Given the description of an element on the screen output the (x, y) to click on. 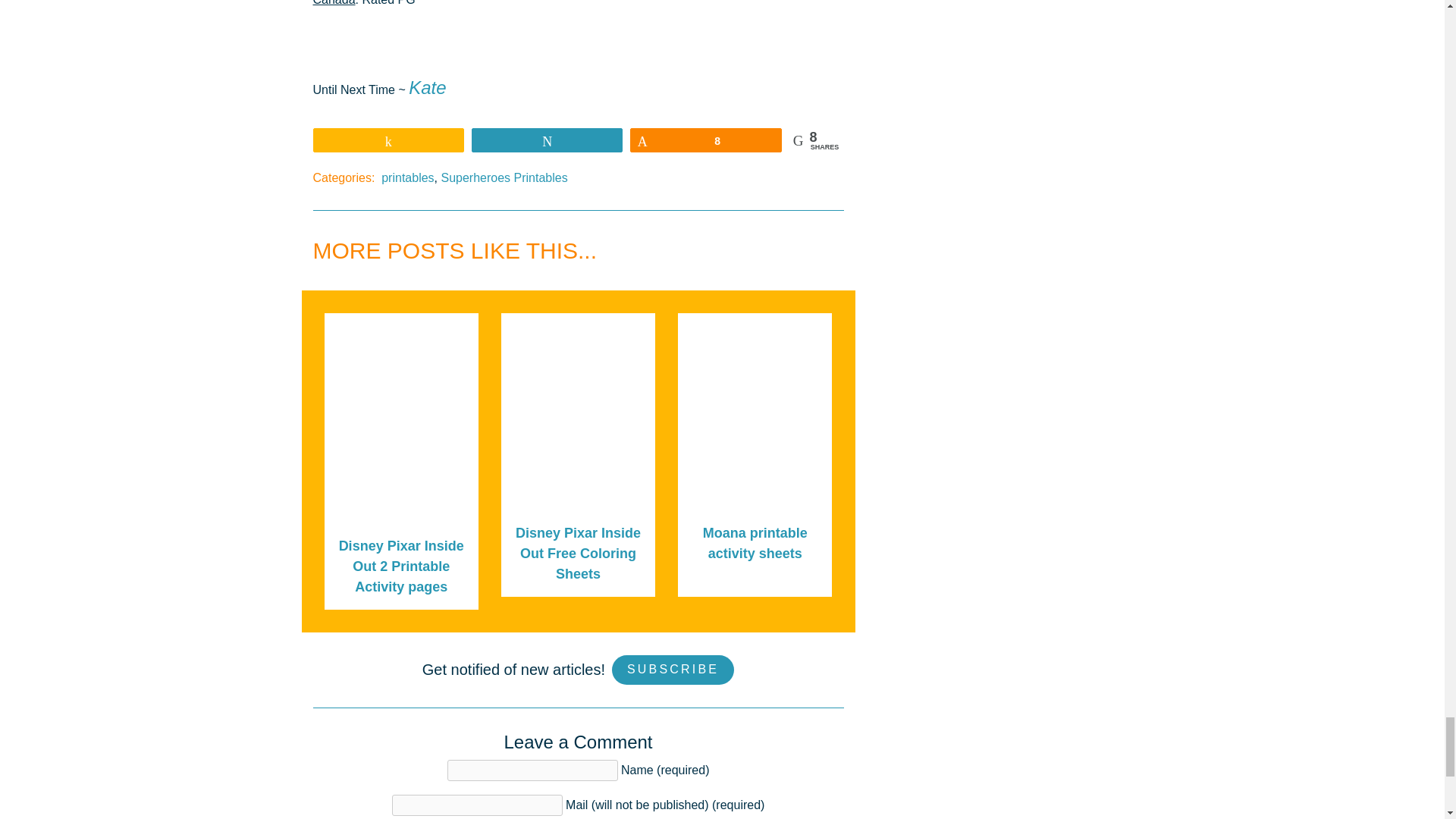
Disney Pixar Inside Out 2 Printable Activity pages (401, 566)
printables (407, 177)
SUBSCRIBE (672, 669)
Moana printable activity sheets (755, 543)
Superheroes Printables (504, 177)
Disney Pixar Inside Out Free Coloring Sheets (577, 553)
8 (705, 139)
